Given the description of an element on the screen output the (x, y) to click on. 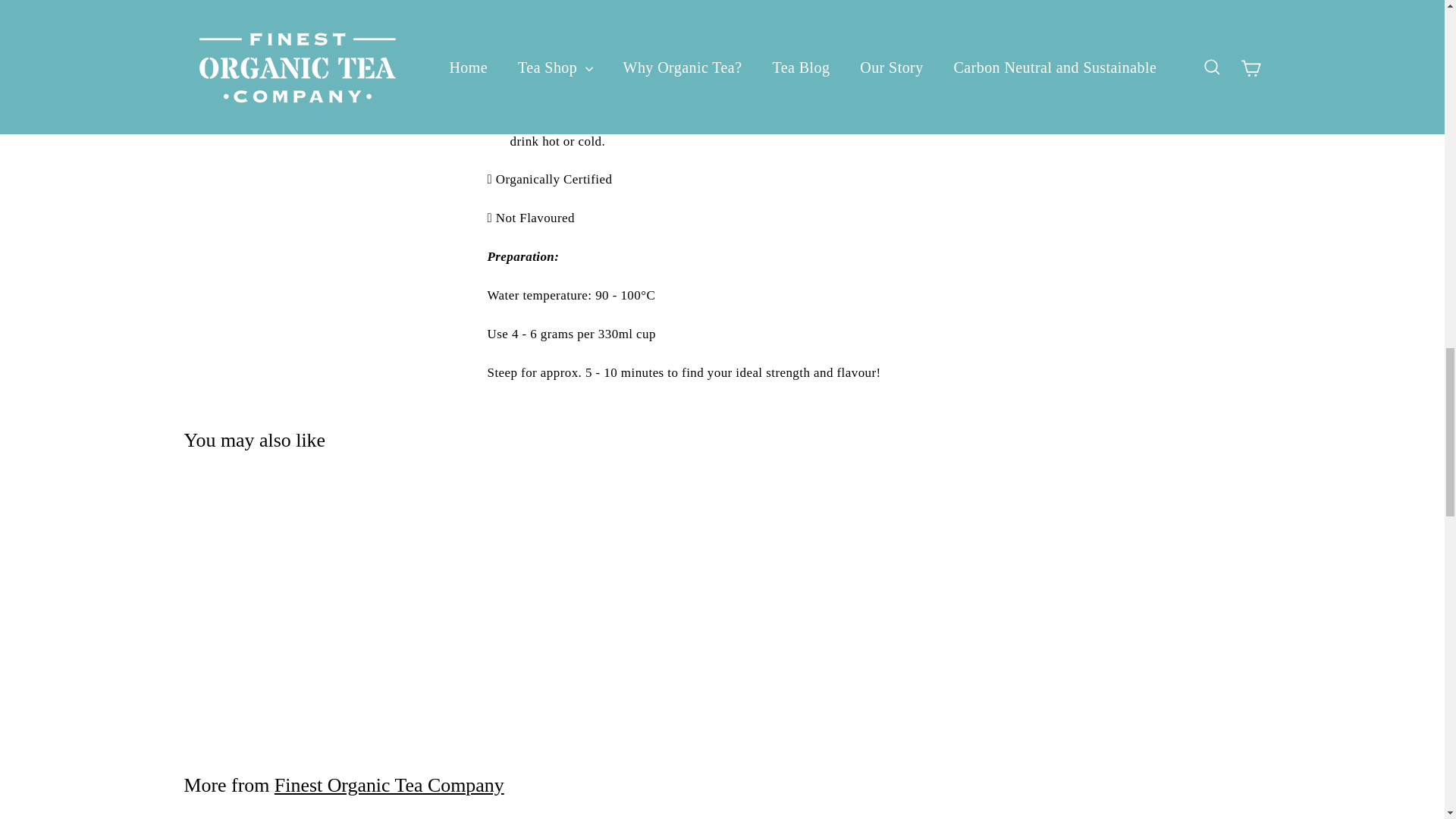
Finest Organic Tea Company  (389, 784)
